Given the description of an element on the screen output the (x, y) to click on. 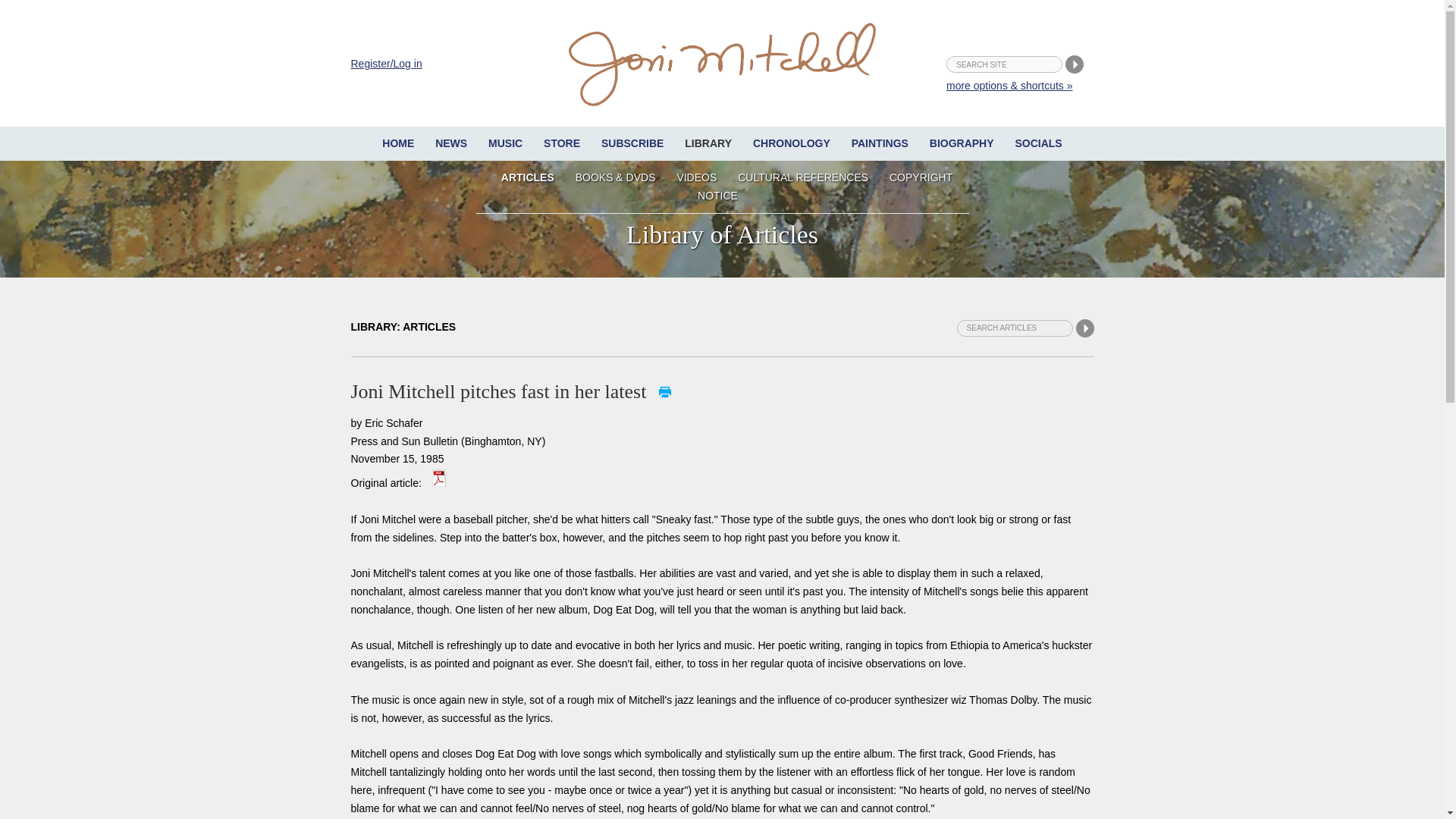
MUSIC (505, 143)
HOME (397, 143)
CULTURAL REFERENCES (803, 177)
PAINTINGS (880, 143)
BIOGRAPHY (961, 143)
SOCIALS (1038, 143)
STORE (561, 143)
Search articles (1014, 328)
SUBSCRIBE (632, 143)
search site (1004, 64)
LIBRARY (708, 143)
COPYRIGHT NOTICE (824, 186)
NEWS (451, 143)
search site (1004, 64)
VIDEOS (695, 177)
